Given the description of an element on the screen output the (x, y) to click on. 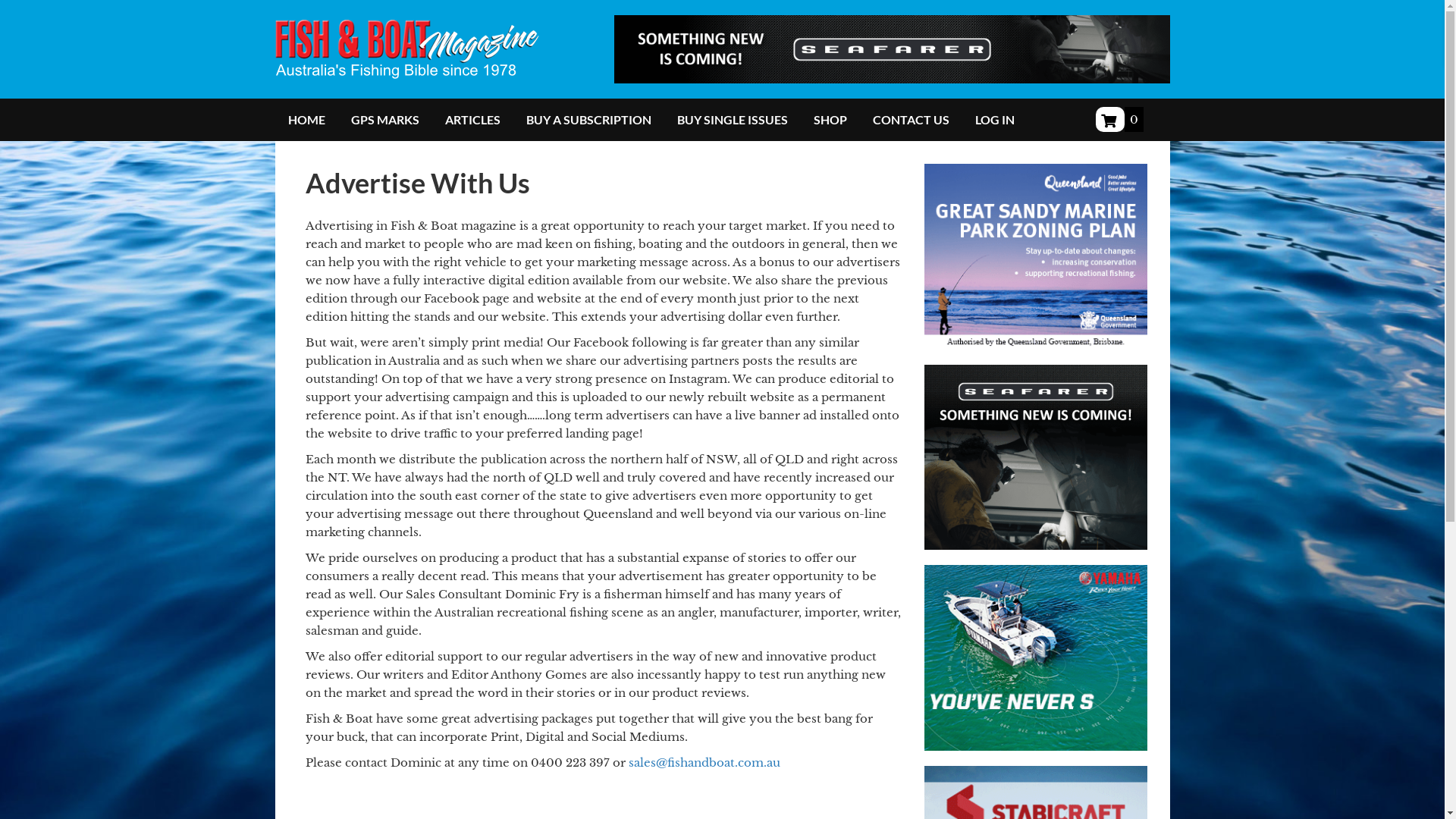
fish and boat magazine logo Element type: hover (406, 48)
SHOP Element type: text (829, 119)
HOME Element type: text (305, 119)
BUY SINGLE ISSUES Element type: text (732, 119)
LOG IN Element type: text (993, 119)
sales@fishandboat.com.au Element type: text (703, 762)
View your shopping cart Element type: hover (1109, 118)
ARTICLES Element type: text (472, 119)
BUY A SUBSCRIPTION Element type: text (587, 119)
GPS MARKS Element type: text (385, 119)
CONTACT US Element type: text (910, 119)
